Given the description of an element on the screen output the (x, y) to click on. 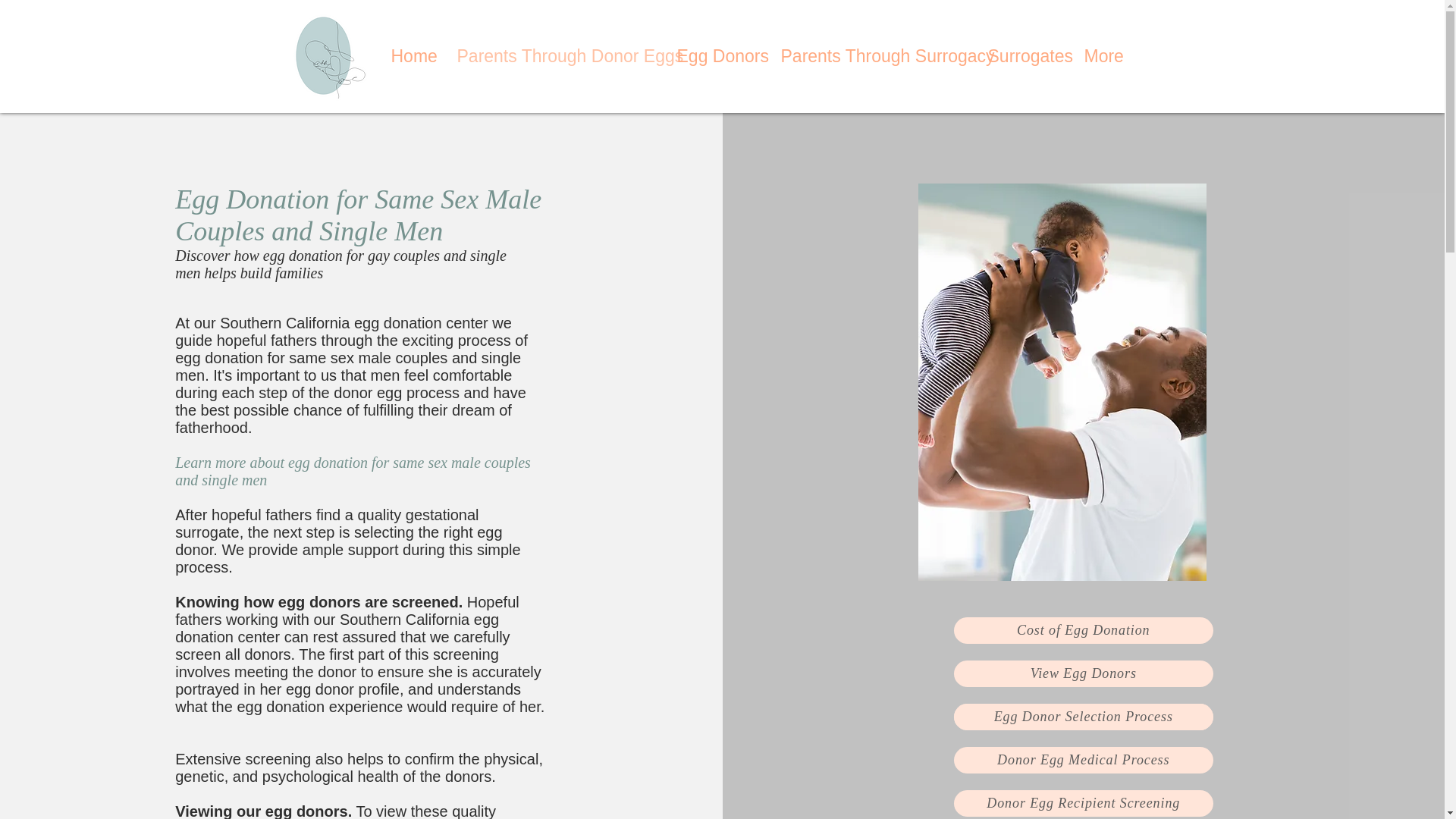
Parents Through Donor Eggs (555, 55)
Surrogates (1024, 55)
Egg Donors (717, 55)
Home (411, 55)
Parents Through Surrogacy (871, 55)
